Given the description of an element on the screen output the (x, y) to click on. 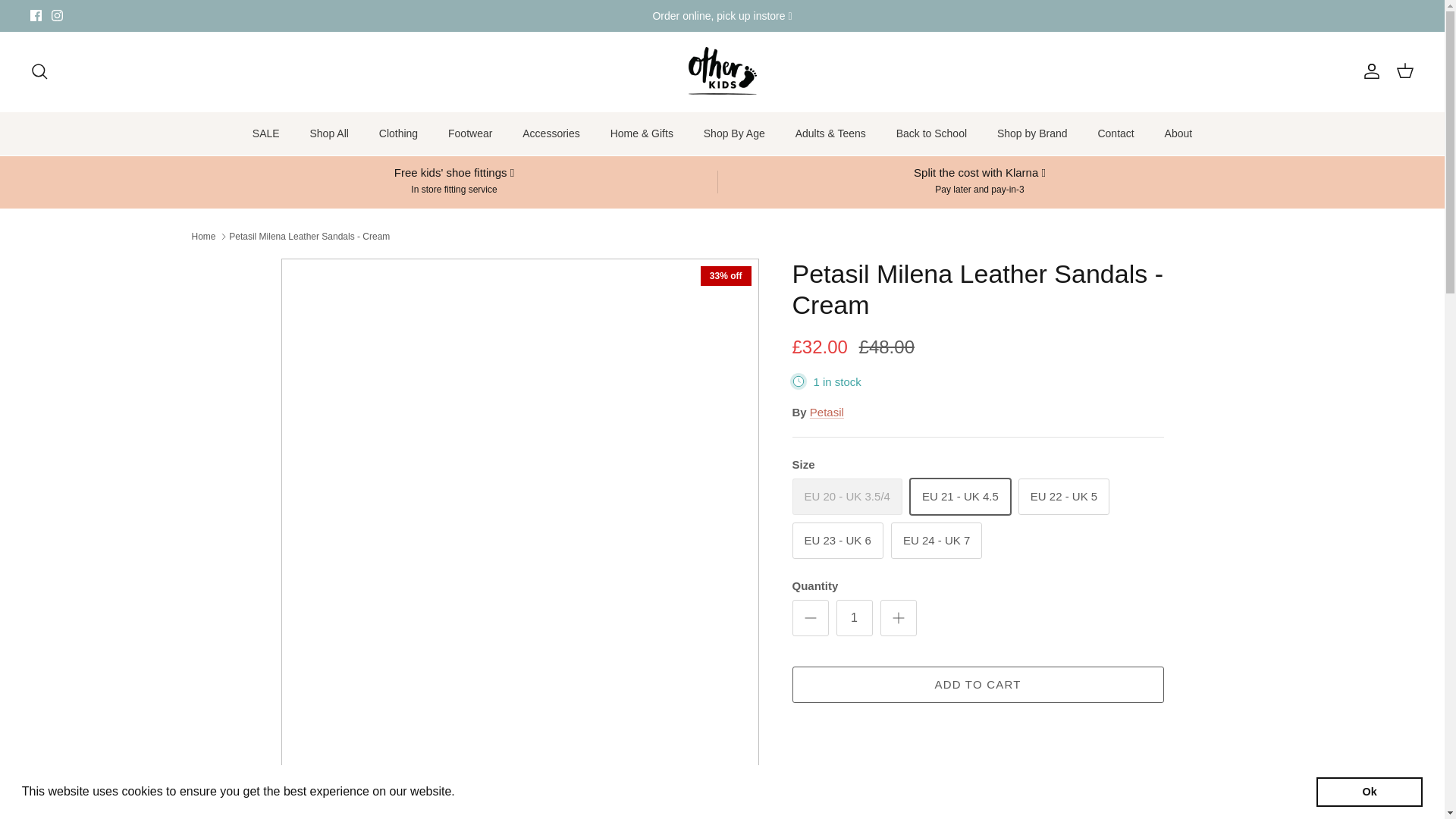
SALE (266, 133)
otherkids (722, 71)
Footwear (469, 133)
Clothing (397, 133)
Search (39, 71)
Learn More (491, 791)
Facebook (36, 15)
Cart (1404, 71)
1 (853, 617)
Plus (897, 618)
Instagram (56, 15)
Ok (1369, 791)
Instagram (56, 15)
Account (1368, 71)
Facebook (36, 15)
